Given the description of an element on the screen output the (x, y) to click on. 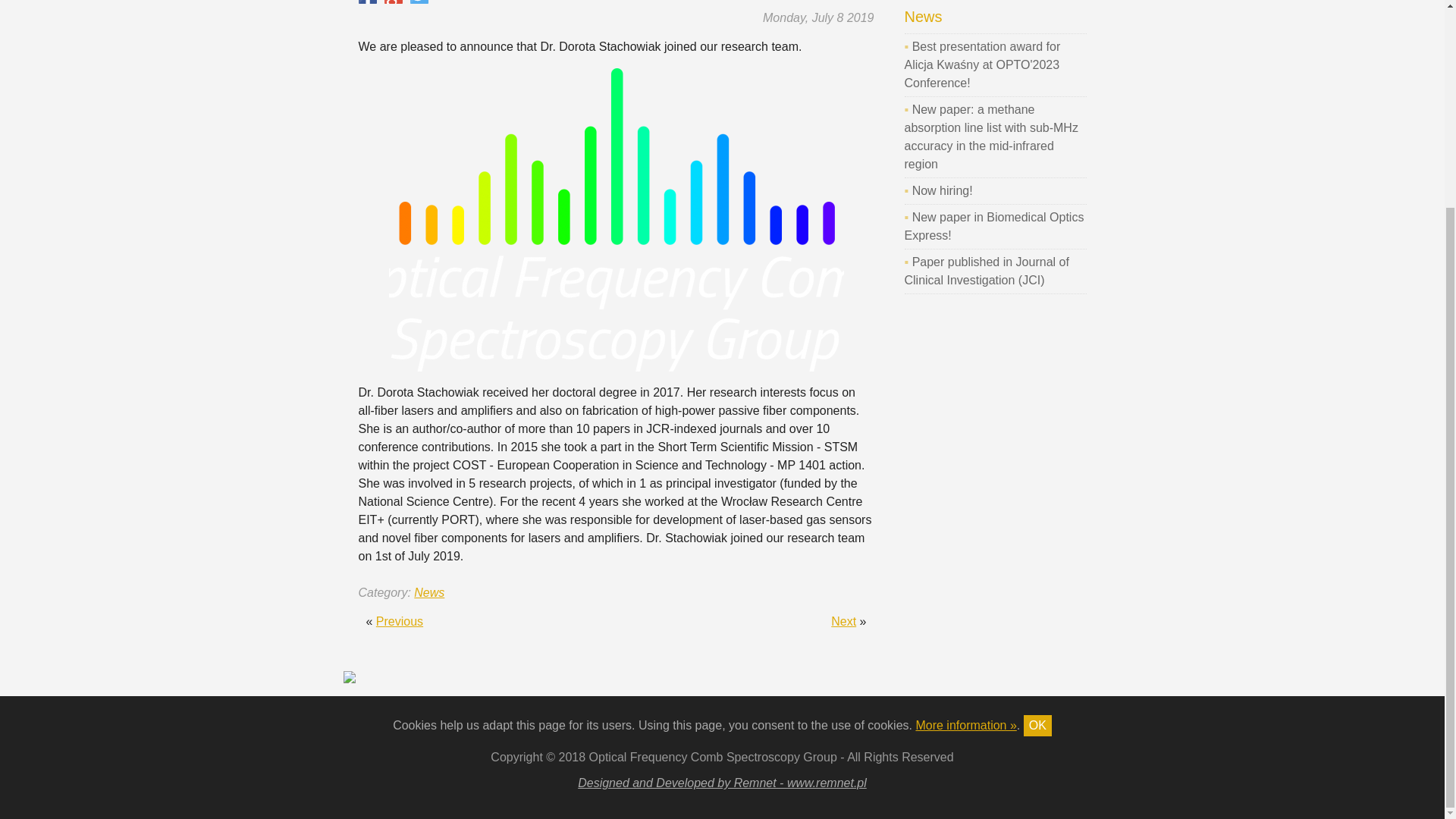
Next (843, 621)
News (428, 592)
Previous (399, 621)
Additional funding for our Project! (399, 621)
Designed and Developed by Remnet - www.remnet.pl (722, 782)
Visit of Dr. Francisco Senna Vieira (843, 621)
Now hiring! (942, 190)
New paper in Biomedical Optics Express! (993, 225)
